Given the description of an element on the screen output the (x, y) to click on. 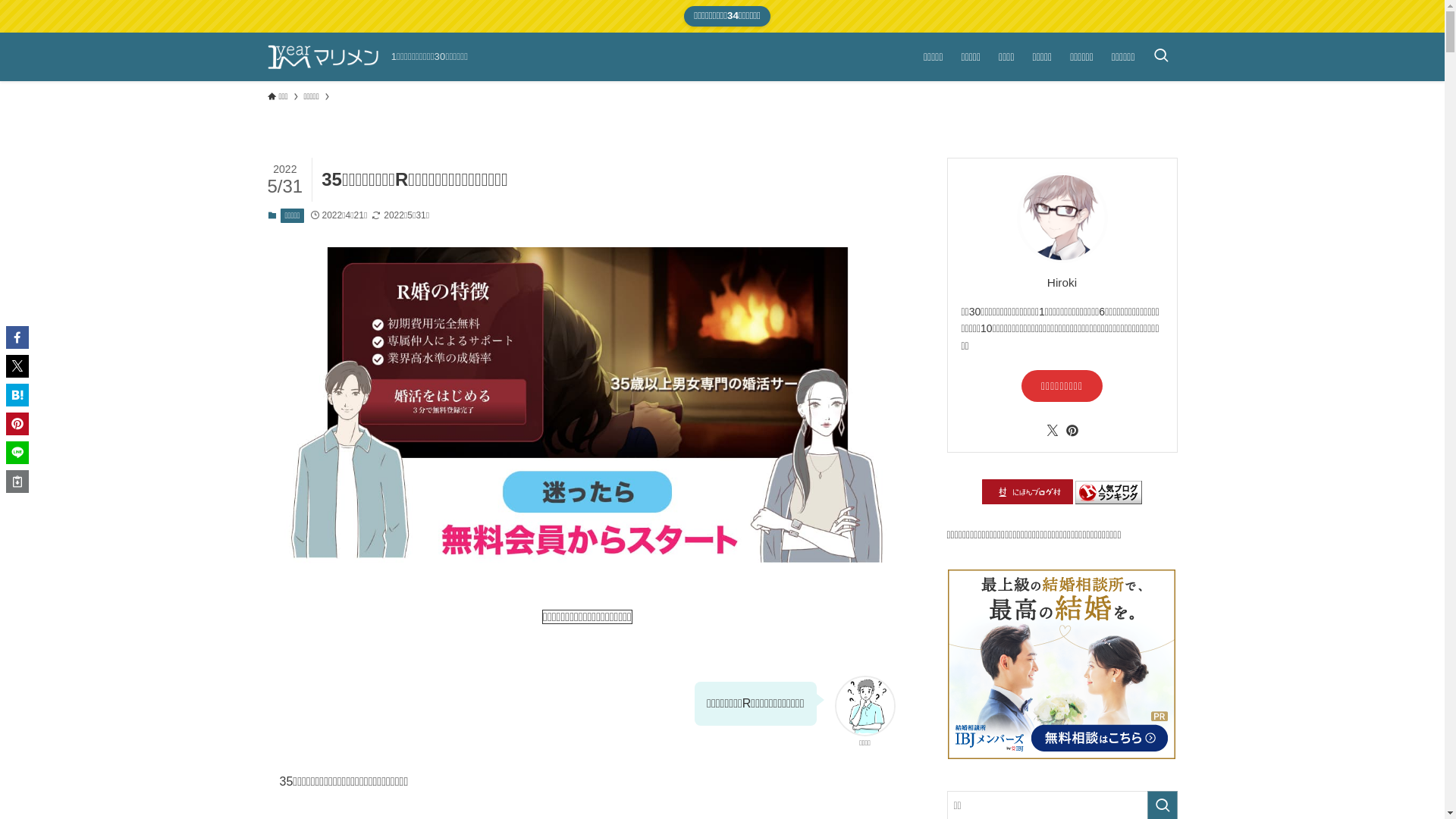
search Element type: text (921, 421)
